Given the description of an element on the screen output the (x, y) to click on. 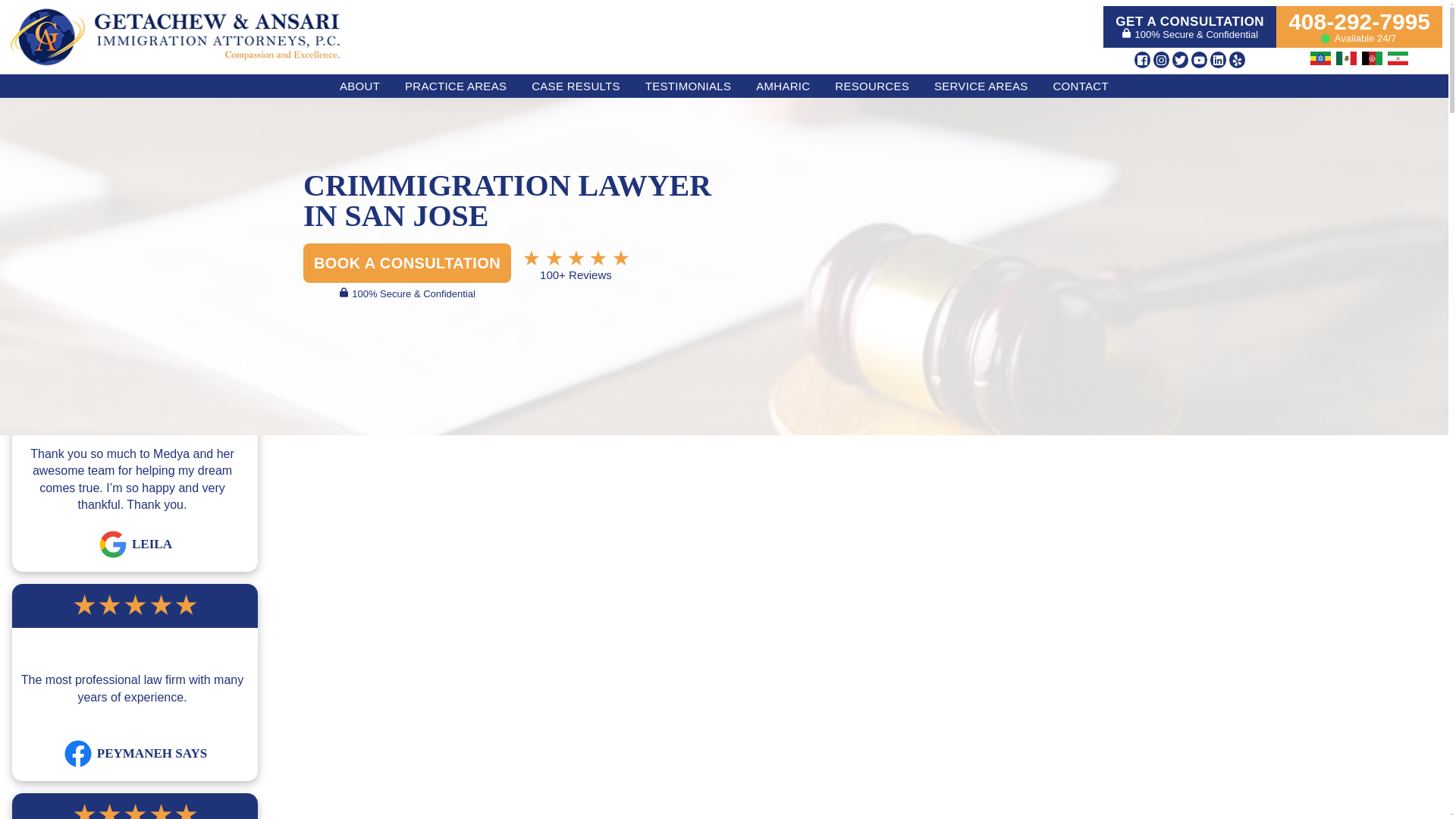
Youtube (1199, 59)
Instagram (1161, 59)
Facebook (1142, 59)
LinkedIn (1217, 59)
Spanish (1346, 58)
homepage (174, 35)
Twitter (1180, 59)
Amharic (1320, 58)
Yelp (1236, 59)
